Given the description of an element on the screen output the (x, y) to click on. 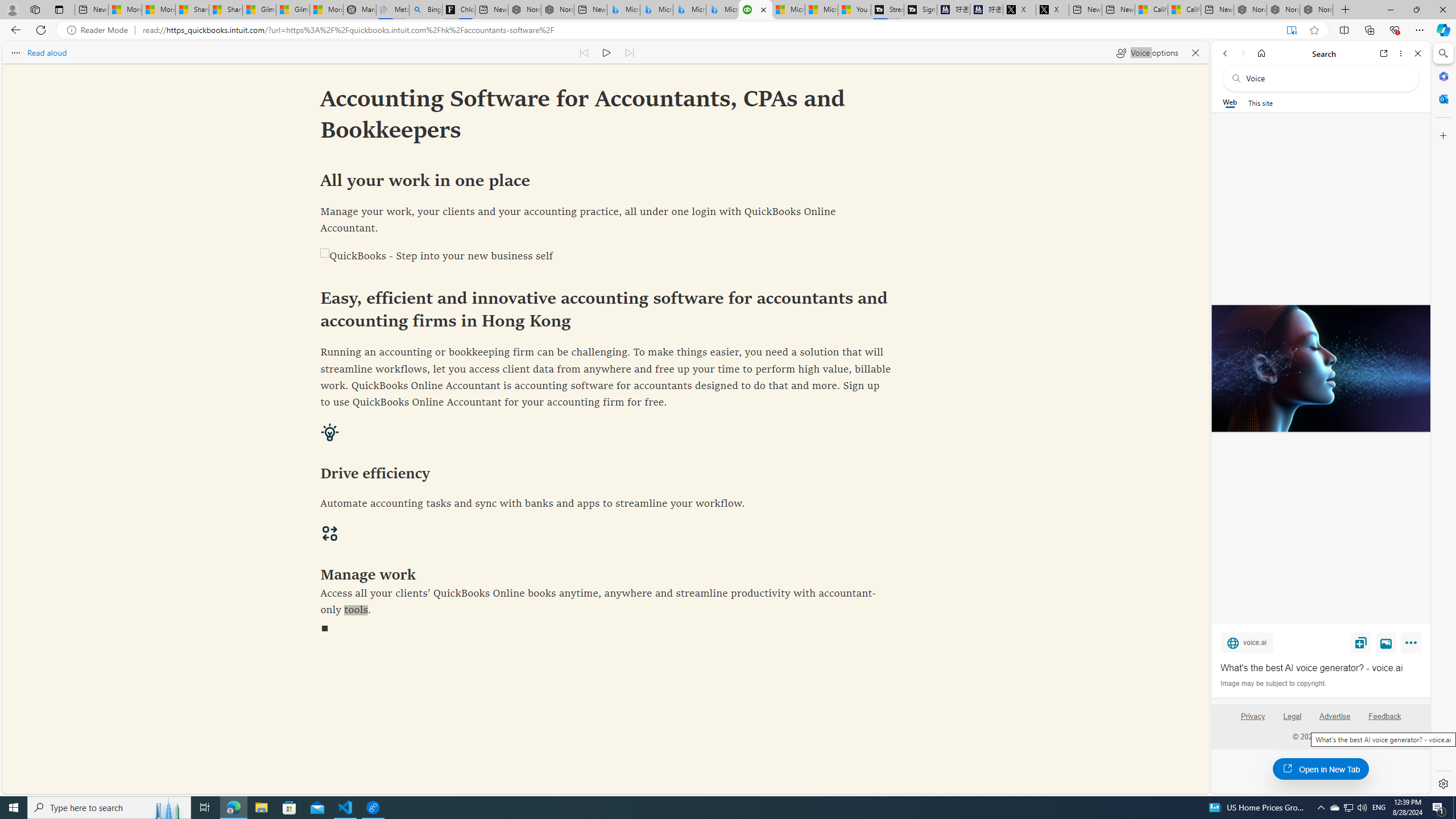
Read next paragraph (628, 52)
Close read aloud (1195, 52)
Legal (1291, 715)
View image (1385, 642)
Nordace - Siena Pro 15 Essential Set (1316, 9)
